Given the description of an element on the screen output the (x, y) to click on. 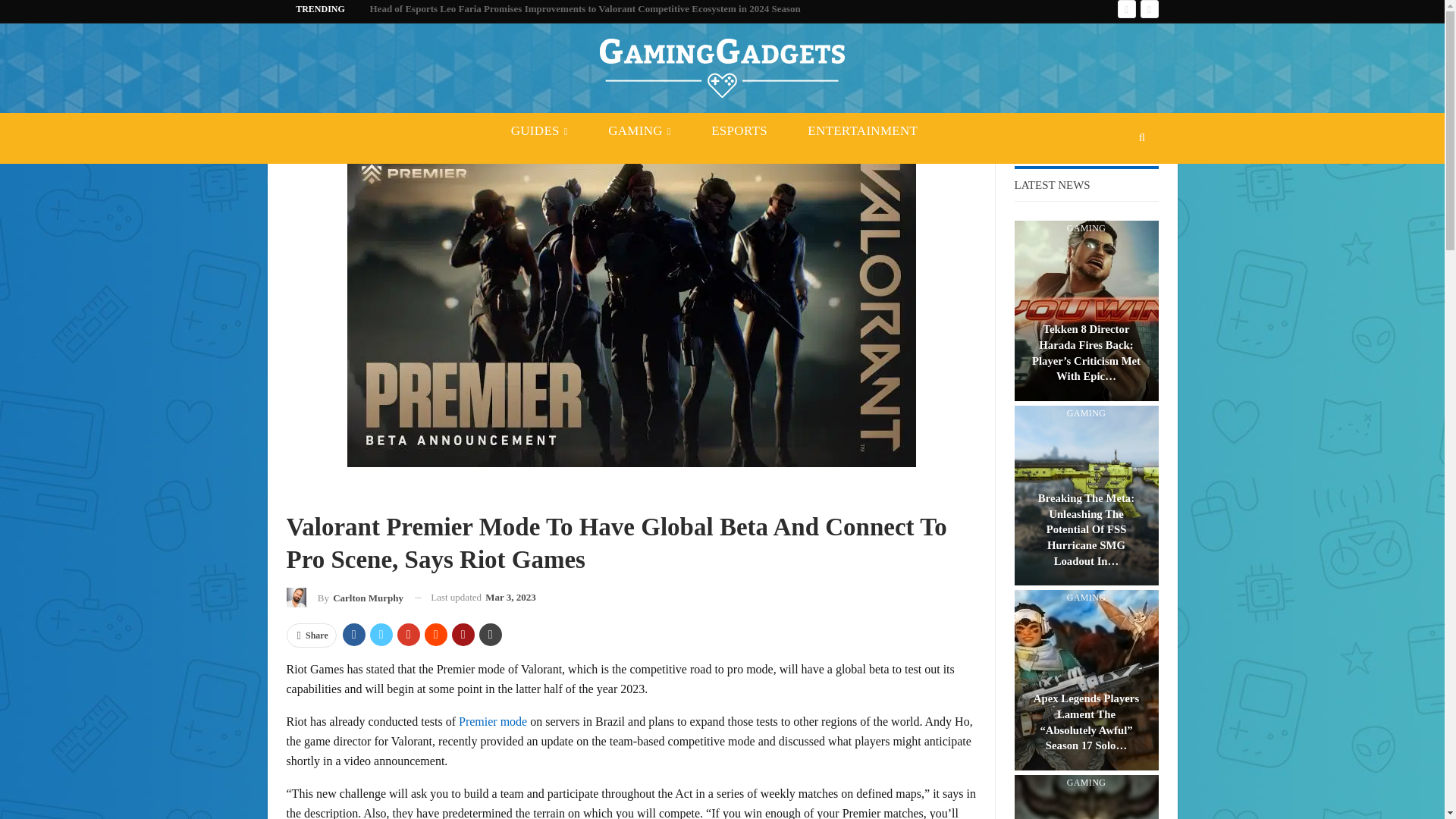
Browse Author Articles (344, 598)
GUIDES (539, 131)
